Given the description of an element on the screen output the (x, y) to click on. 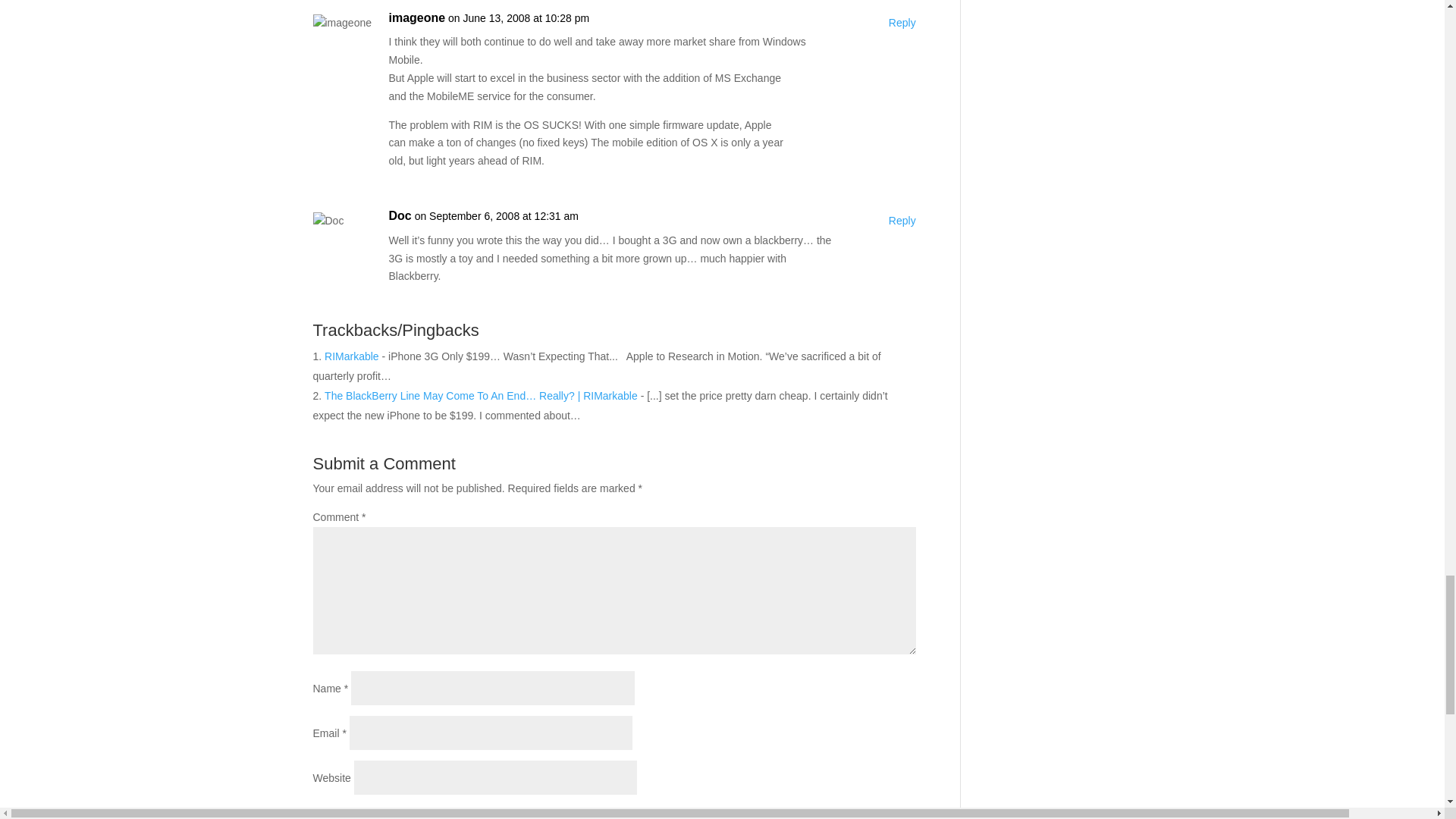
Reply (901, 221)
Reply (901, 23)
subscribe (319, 812)
Doc (399, 216)
RIMarkable (351, 356)
